Given the description of an element on the screen output the (x, y) to click on. 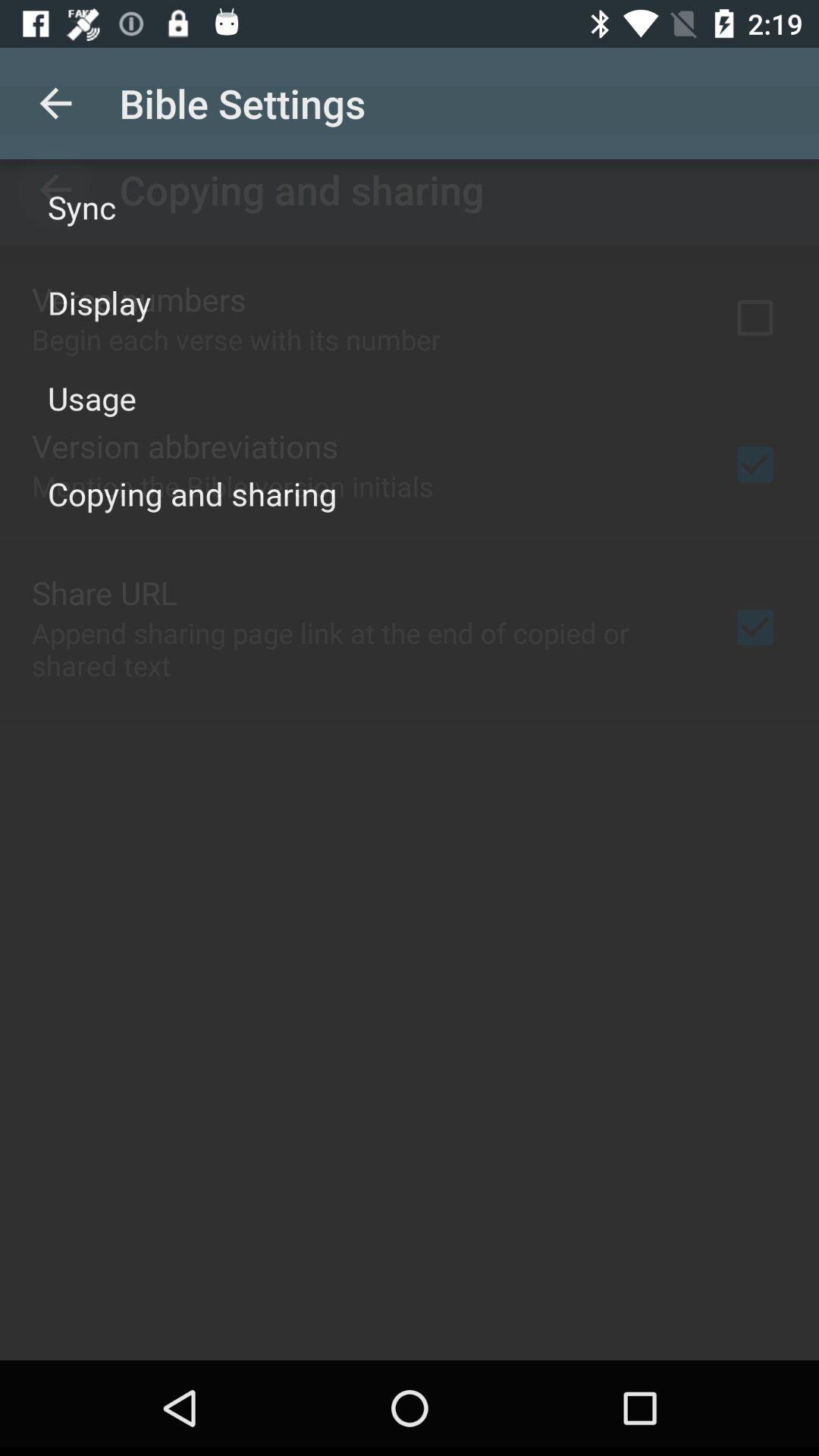
tap display (99, 302)
